Given the description of an element on the screen output the (x, y) to click on. 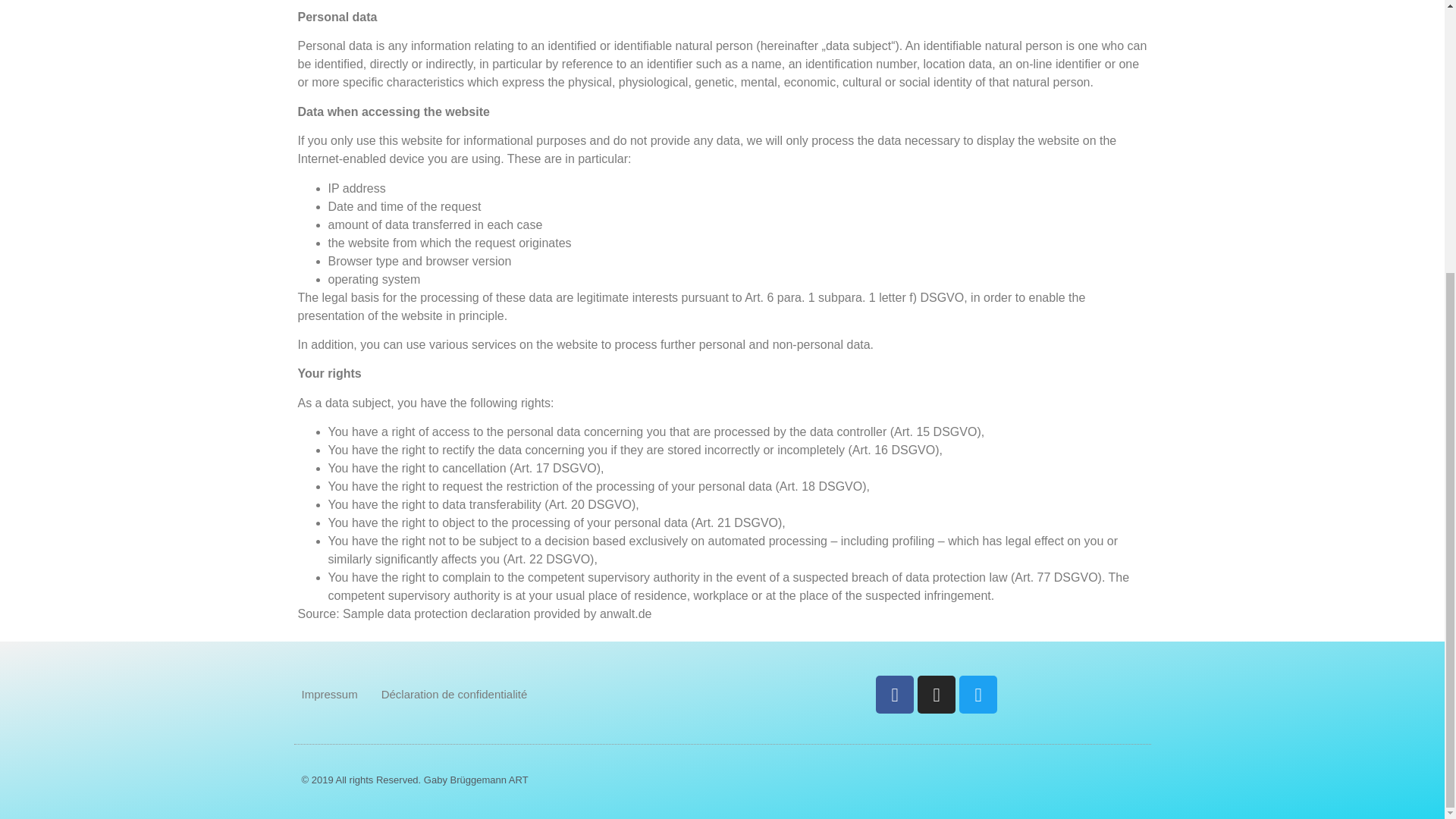
Impressum (329, 694)
